Given the description of an element on the screen output the (x, y) to click on. 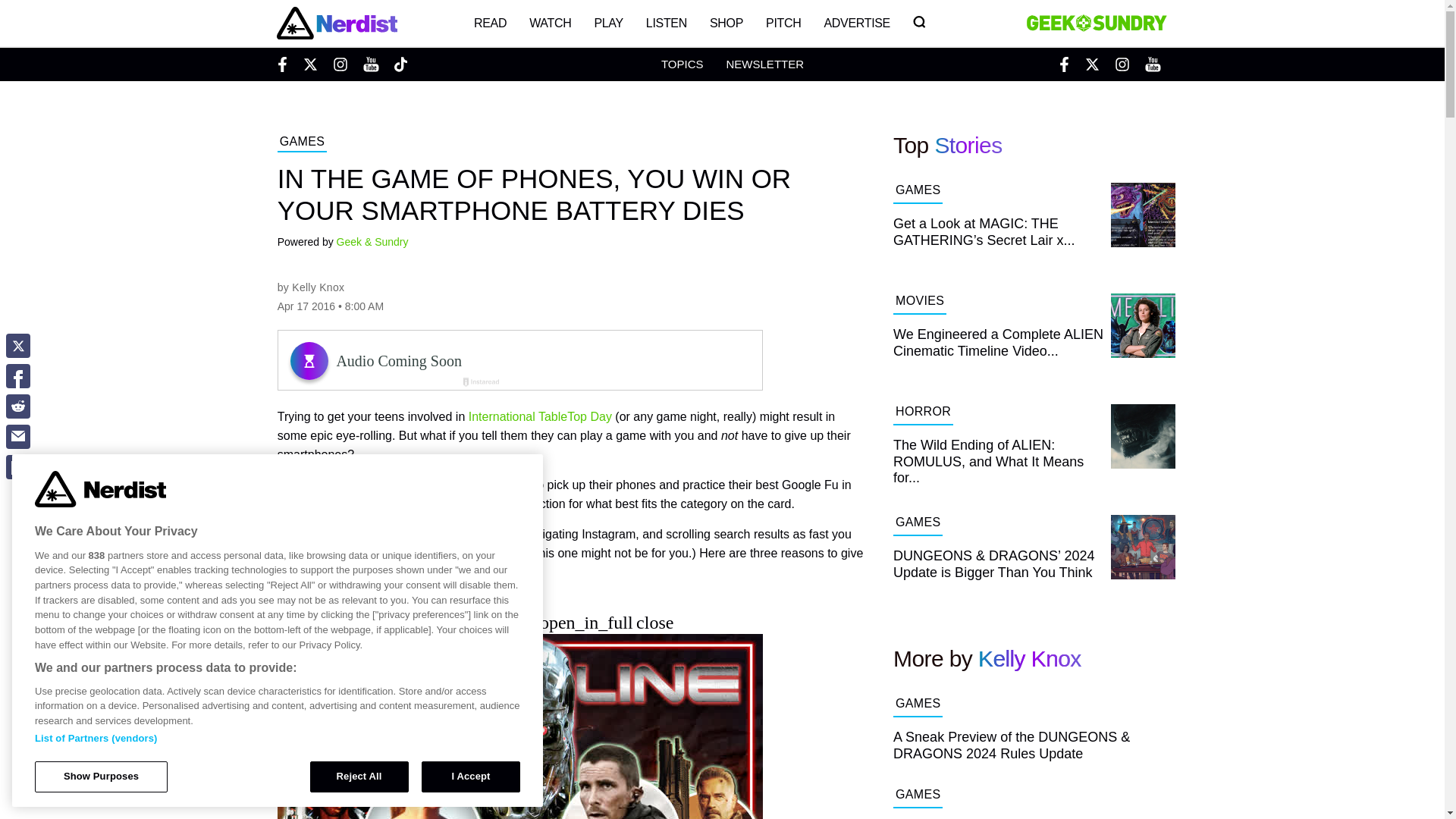
Topics (681, 63)
LISTEN (666, 22)
International TableTop Day (539, 416)
TOPICS (681, 63)
Twitter Geek and Sundry (1091, 63)
SHOP (726, 22)
Game of Phones (350, 484)
PLAY (607, 22)
Youtube Nerdist (370, 63)
ADVERTISE (856, 22)
